Given the description of an element on the screen output the (x, y) to click on. 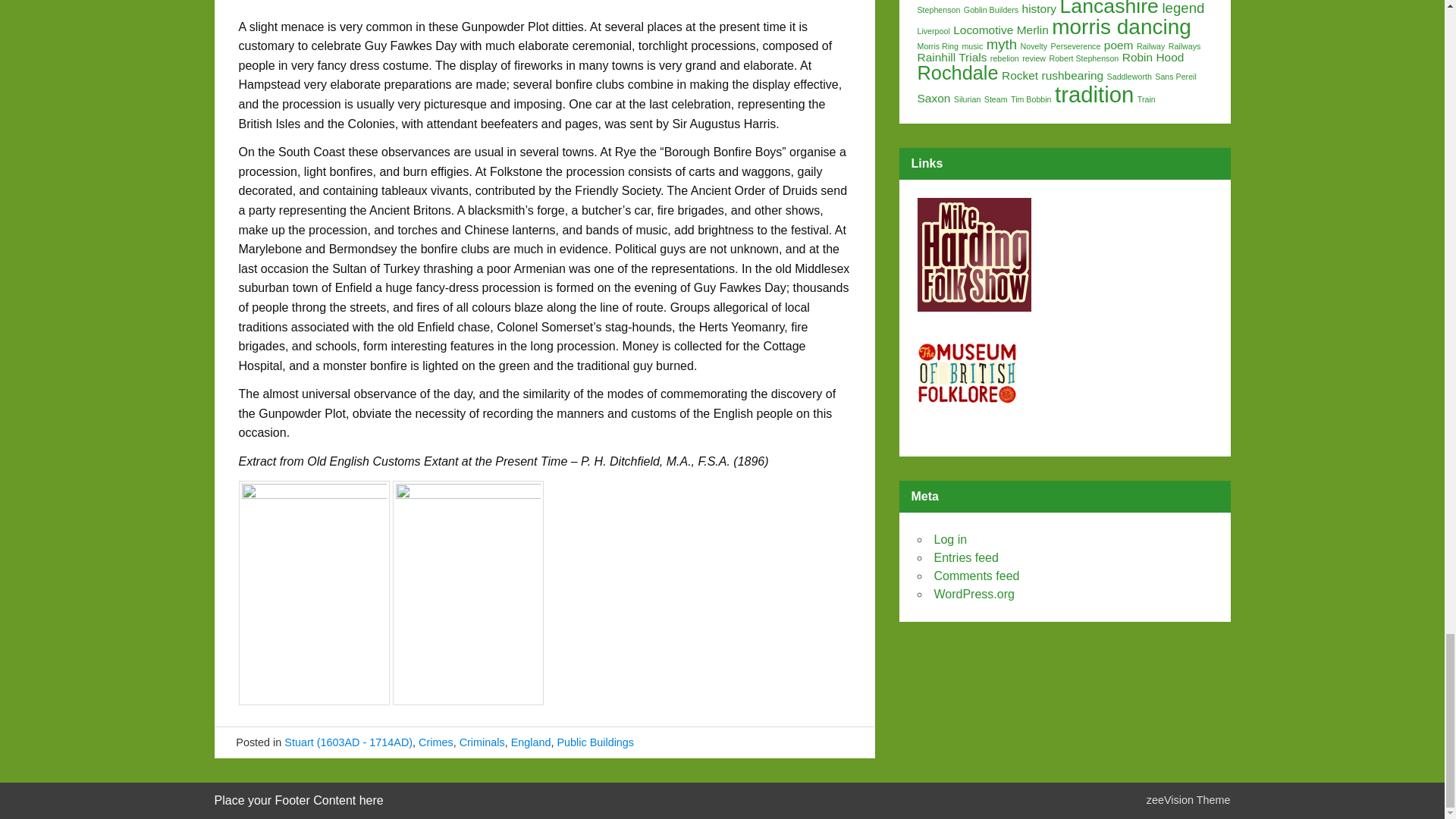
England (531, 742)
Crimes (435, 742)
Criminals (482, 742)
Public Buildings (594, 742)
